Given the description of an element on the screen output the (x, y) to click on. 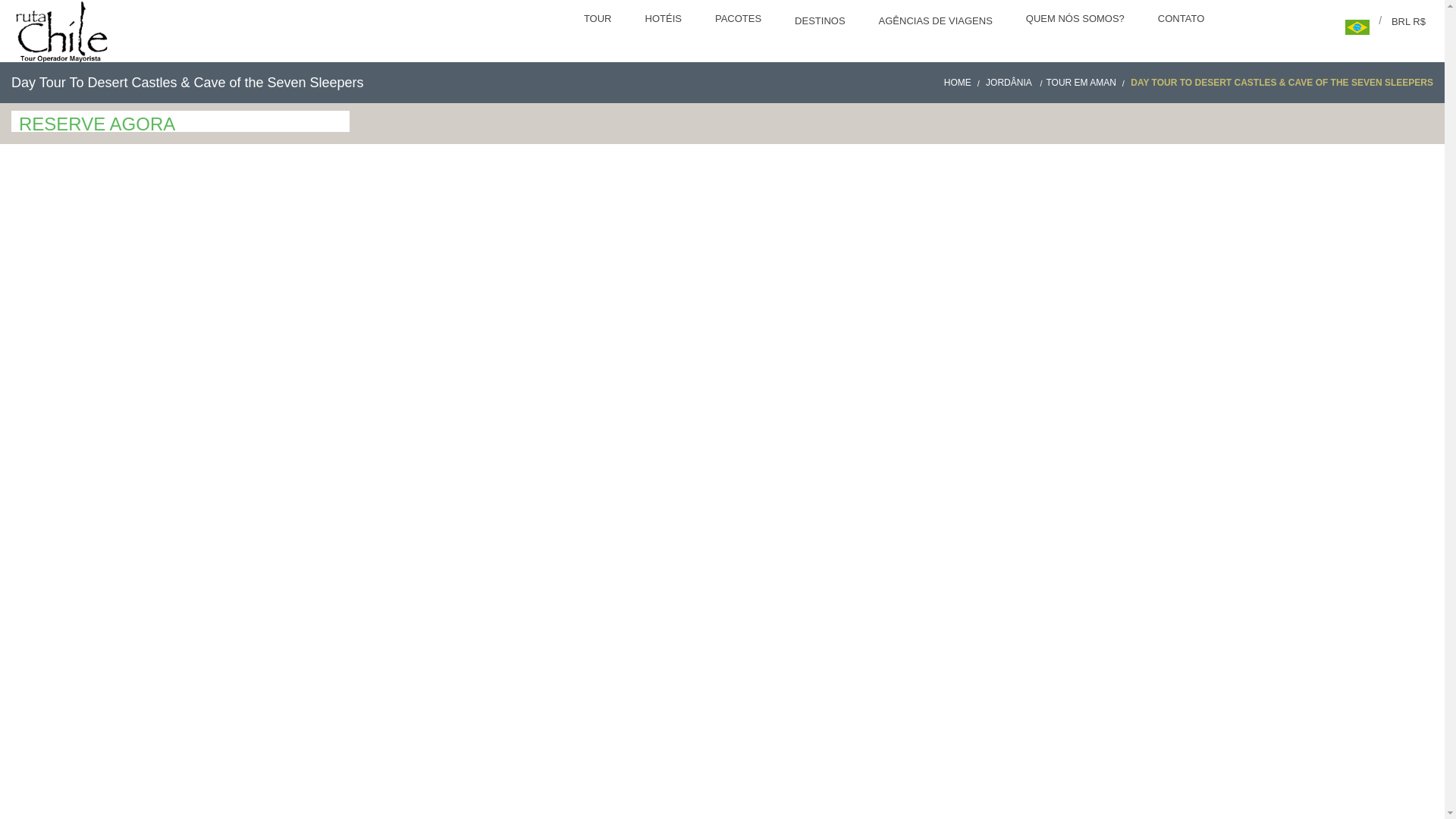
HOME (963, 81)
TOUR (599, 20)
CONTATO (1182, 20)
DESTINOS (820, 22)
TOUR EM AMAN (1085, 81)
PACOTES (739, 20)
